Given the description of an element on the screen output the (x, y) to click on. 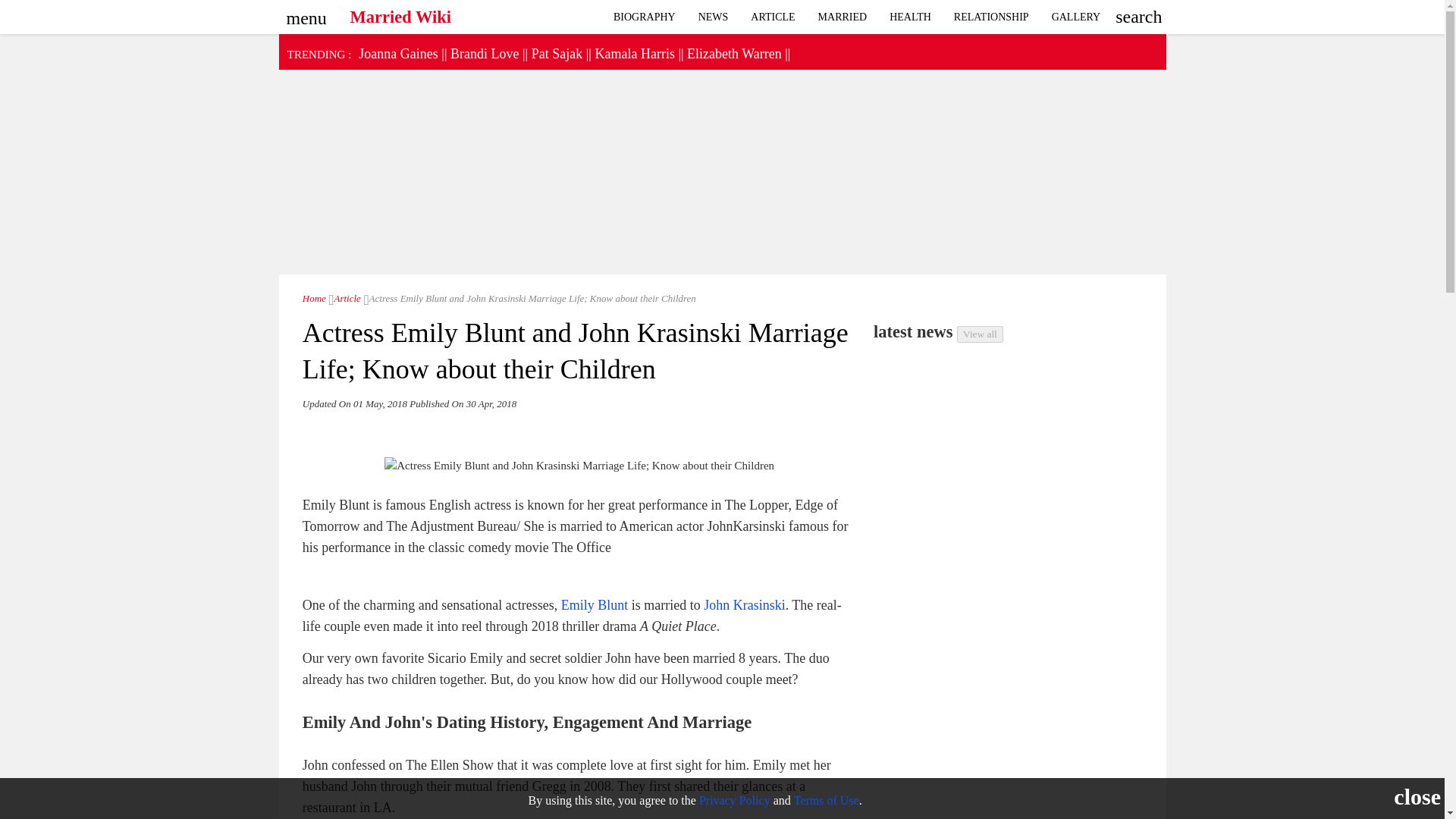
BIOGRAPHY (644, 17)
relationship (1076, 17)
Kamala Harris (634, 53)
Biography (644, 17)
Emily Blunt (594, 604)
Relationship (991, 17)
married (842, 17)
Elizabeth Warren (734, 53)
Article (772, 17)
Joanna Gaines (398, 53)
